Given the description of an element on the screen output the (x, y) to click on. 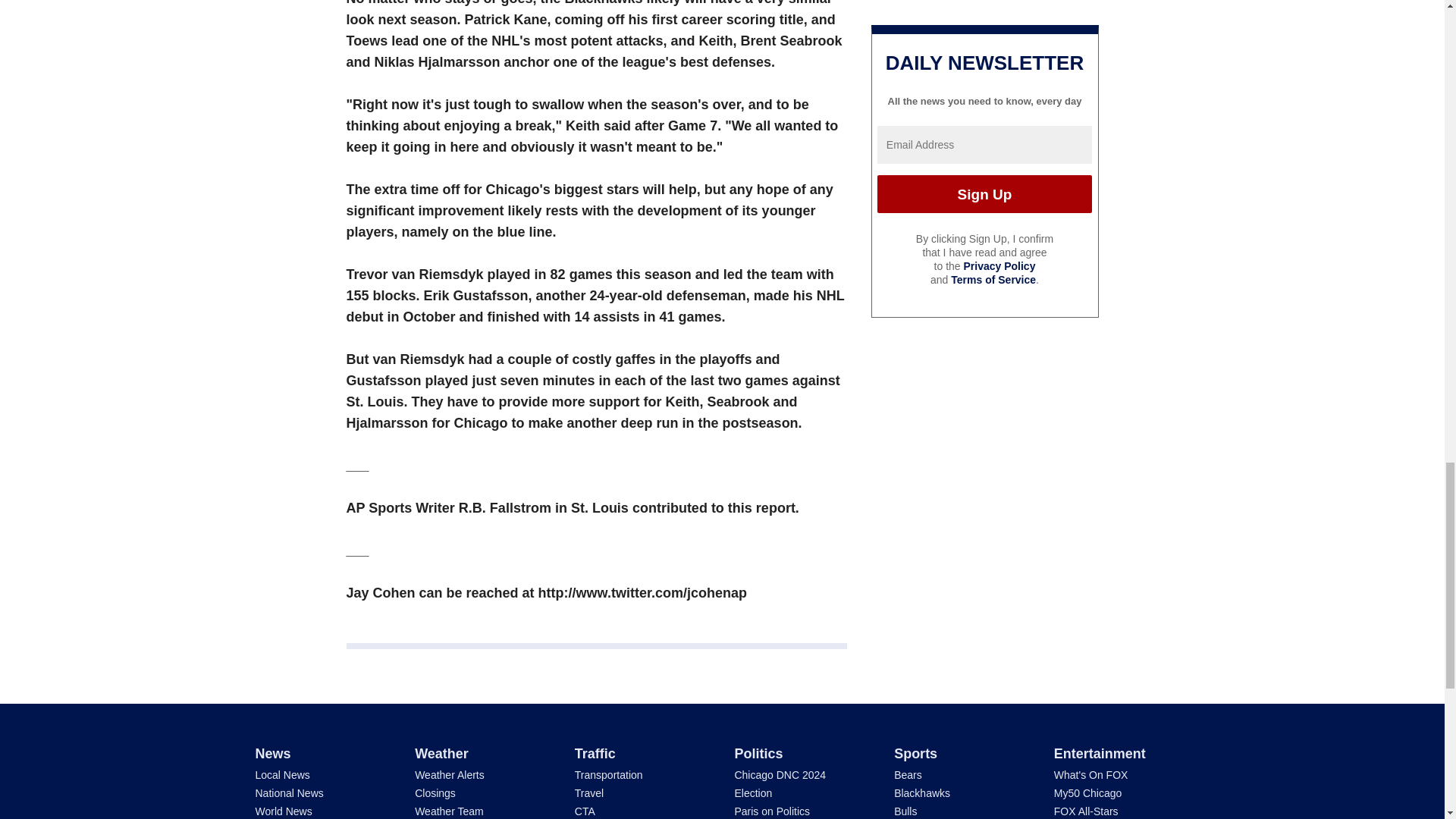
Sign Up (984, 193)
